Given the description of an element on the screen output the (x, y) to click on. 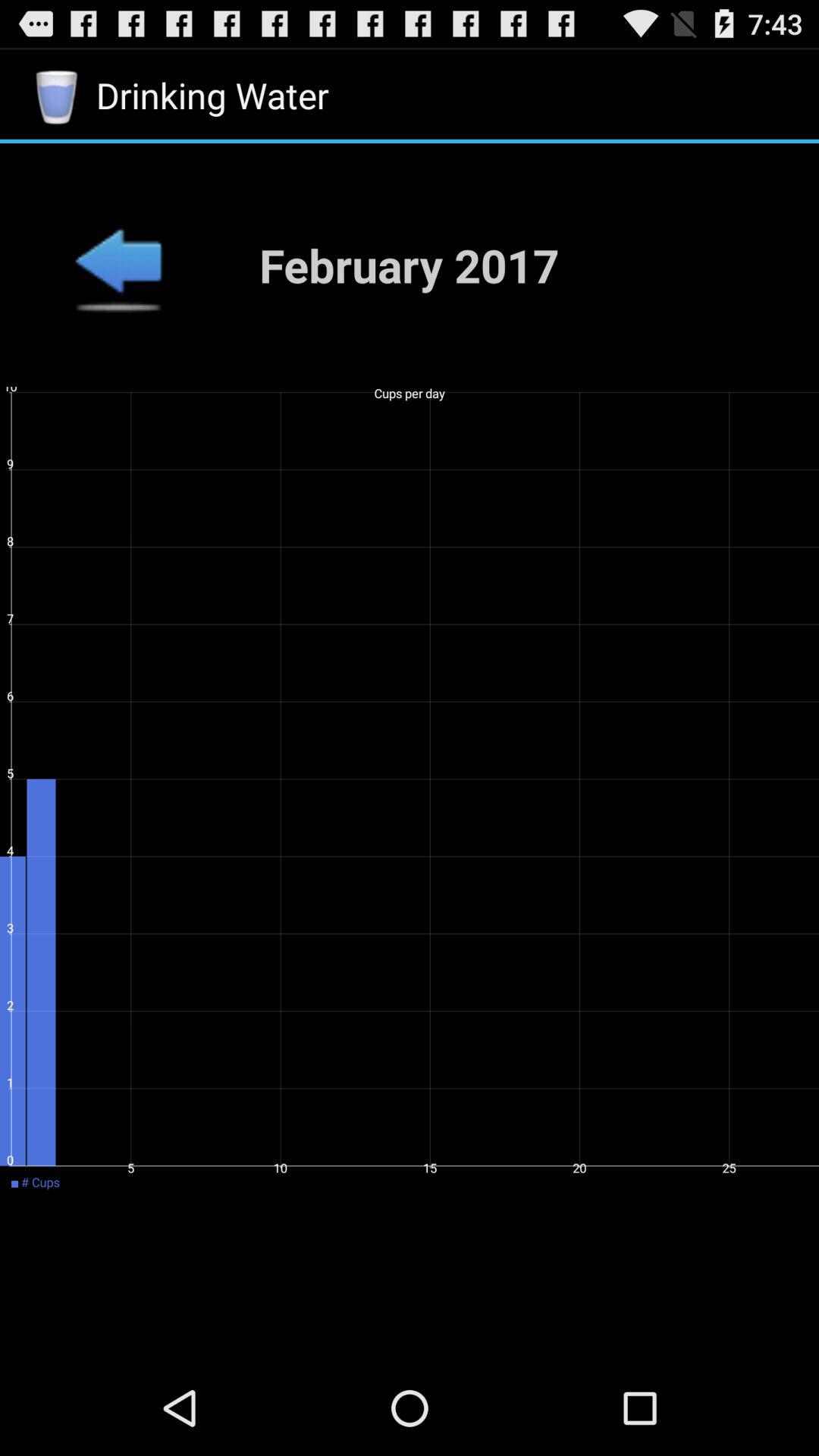
launch the app to the left of the february 2017 item (118, 264)
